Given the description of an element on the screen output the (x, y) to click on. 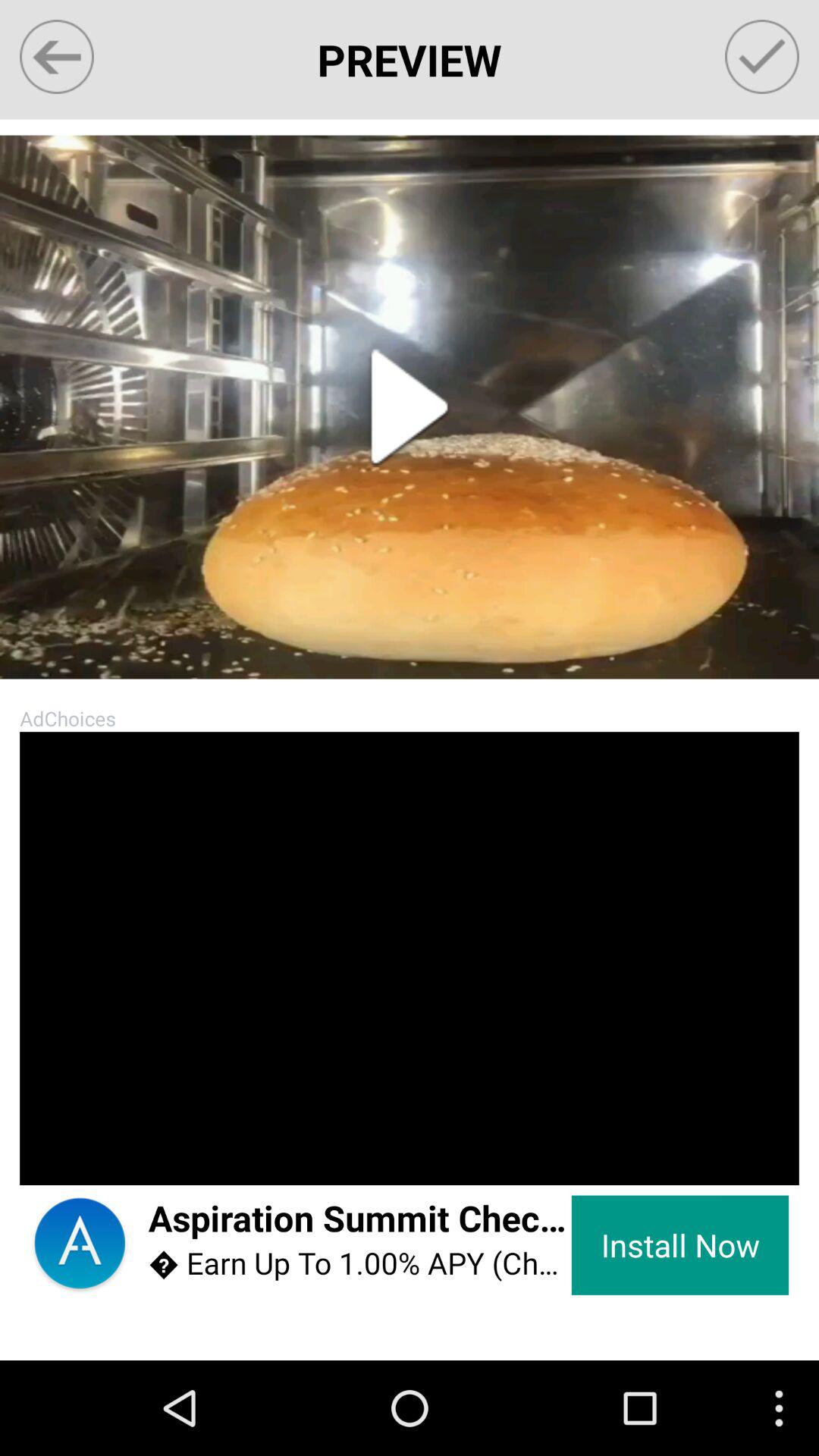
select the icon to the left of install now (359, 1219)
